Given the description of an element on the screen output the (x, y) to click on. 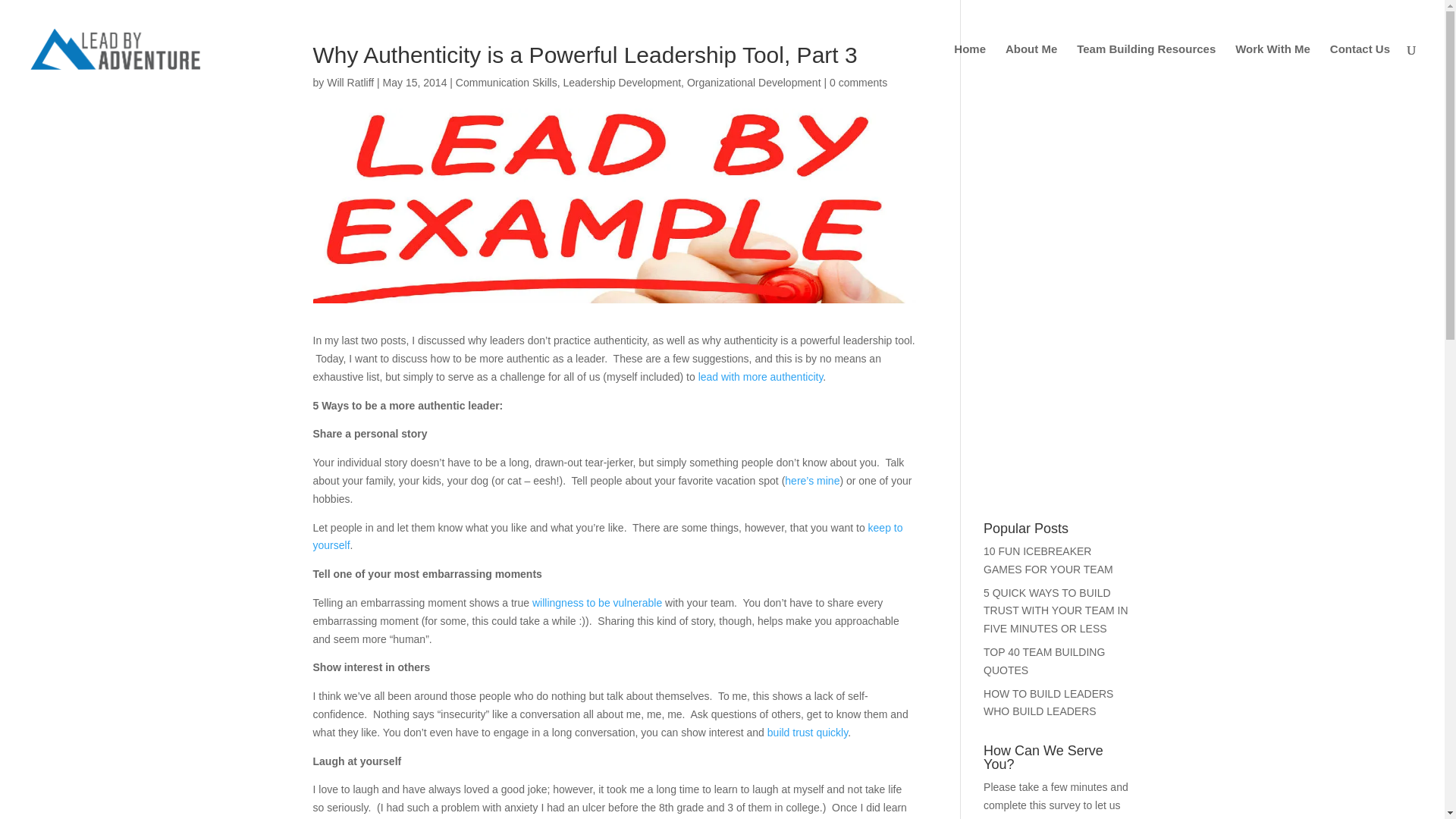
build trust quickly (807, 755)
lead with more authenticity (761, 399)
10 FUN ICEBREAKER GAMES FOR YOUR TEAM (1048, 583)
Cayman Islands (812, 503)
13 things to keep to yourself at work (607, 559)
TOP 40 TEAM BUILDING QUOTES (1044, 684)
Work With Me (1272, 71)
Will Ratliff (350, 105)
HOW TO BUILD LEADERS WHO BUILD LEADERS (1048, 725)
Leadership Development (621, 105)
0 comments (857, 105)
keep to yourself (607, 559)
The Vulnerable Leader (597, 625)
willingness to be vulnerable (597, 625)
About Me (1031, 71)
